Given the description of an element on the screen output the (x, y) to click on. 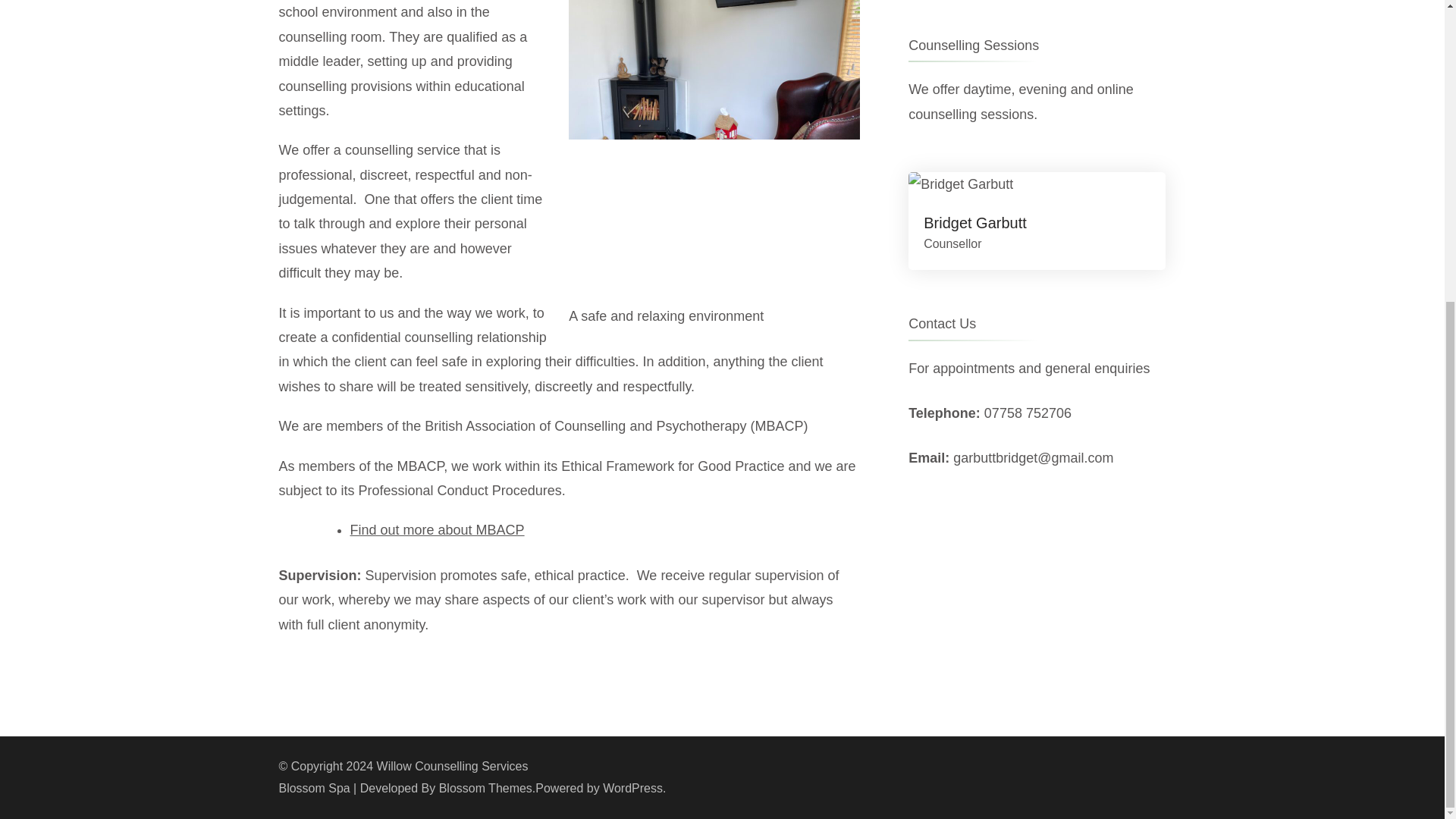
WordPress (632, 788)
Find out more about BACP (437, 529)
Blossom Themes (485, 788)
Find out more about MBACP (437, 529)
